Given the description of an element on the screen output the (x, y) to click on. 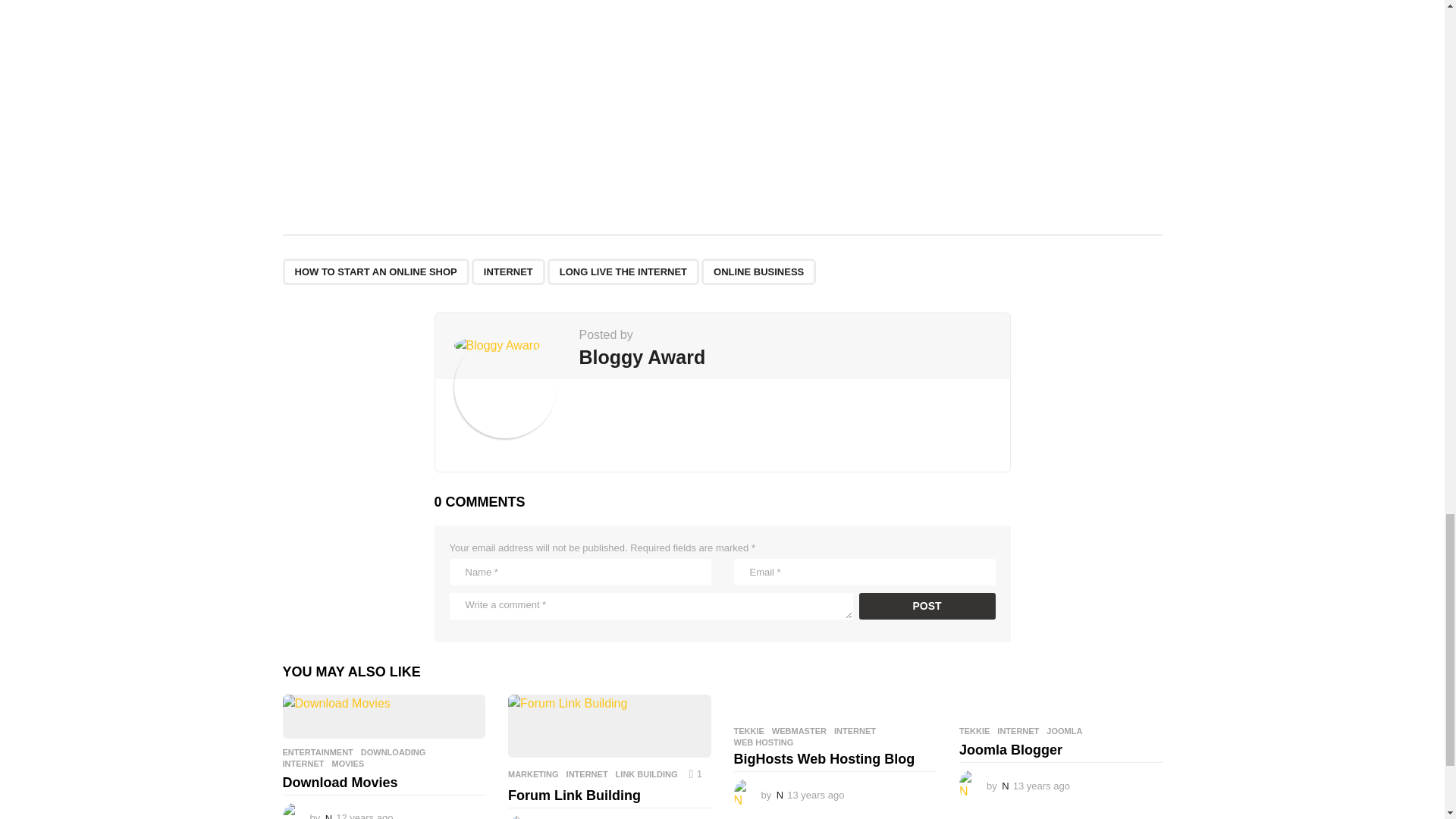
ENTERTAINMENT (317, 751)
Download Movies (383, 716)
INTERNET (507, 271)
Post (926, 605)
HOW TO START AN ONLINE SHOP (375, 271)
MOVIES (348, 763)
Forum Link Building (609, 725)
INTERNET (302, 763)
LONG LIVE THE INTERNET (622, 271)
Bloggy Award (642, 356)
Post (926, 605)
ONLINE BUSINESS (758, 271)
DOWNLOADING (393, 751)
